Given the description of an element on the screen output the (x, y) to click on. 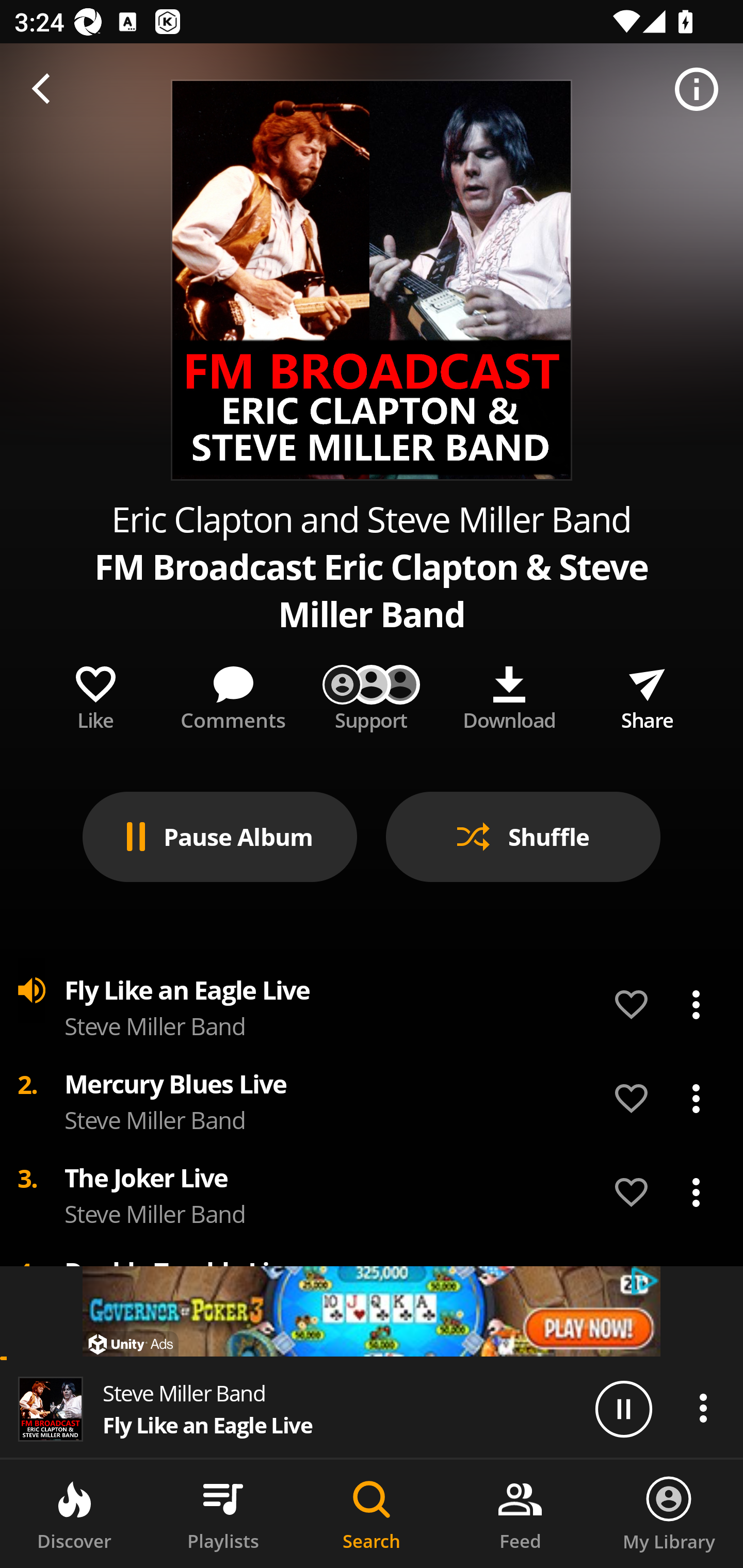
Close (46, 89)
Music info (696, 89)
Like (95, 694)
Comment Comments Comment (233, 694)
Support (371, 694)
Download (509, 694)
Share (647, 694)
Pause Album (219, 836)
Shuffle (522, 836)
Fly Like an Eagle Live Steve Miller Band Actions (371, 1005)
Actions (695, 1005)
2. Mercury Blues Live Steve Miller Band Actions (371, 1099)
Actions (695, 1098)
3. The Joker Live Steve Miller Band Actions (371, 1192)
Actions (695, 1192)
lsu54e6m_orsjcin_pa022wal7ih1pbtk (371, 1311)
privacy (645, 1280)
Actions (703, 1407)
Play/Pause (623, 1408)
Discover (74, 1513)
Playlists (222, 1513)
Search (371, 1513)
Feed (519, 1513)
My Library (668, 1513)
